Given the description of an element on the screen output the (x, y) to click on. 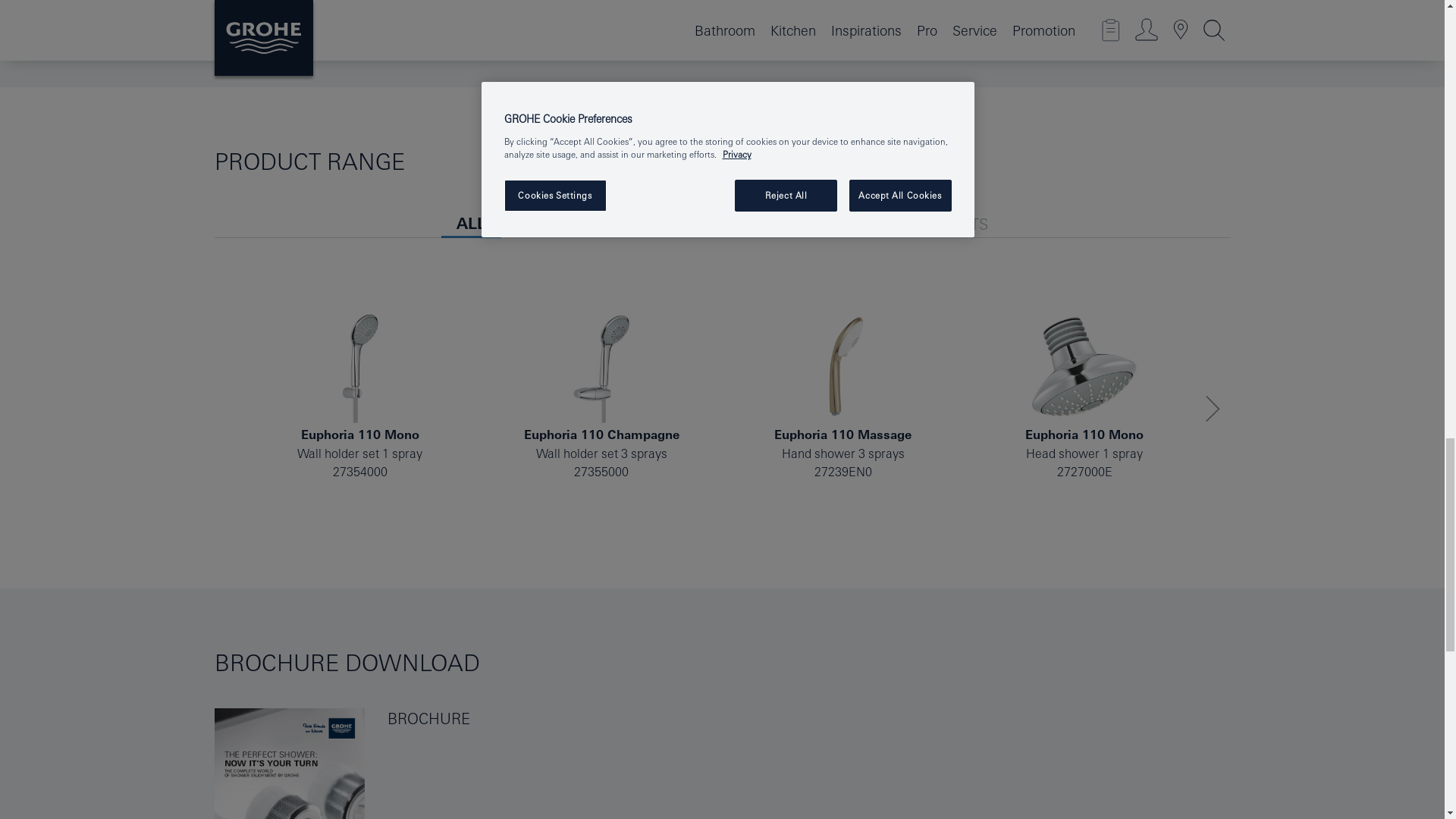
Wall holder set 1 spray (359, 367)
Head shower 1 spray (1084, 367)
Hand shower 3 sprays (842, 367)
Wall holder set 3 sprays (601, 367)
